Given the description of an element on the screen output the (x, y) to click on. 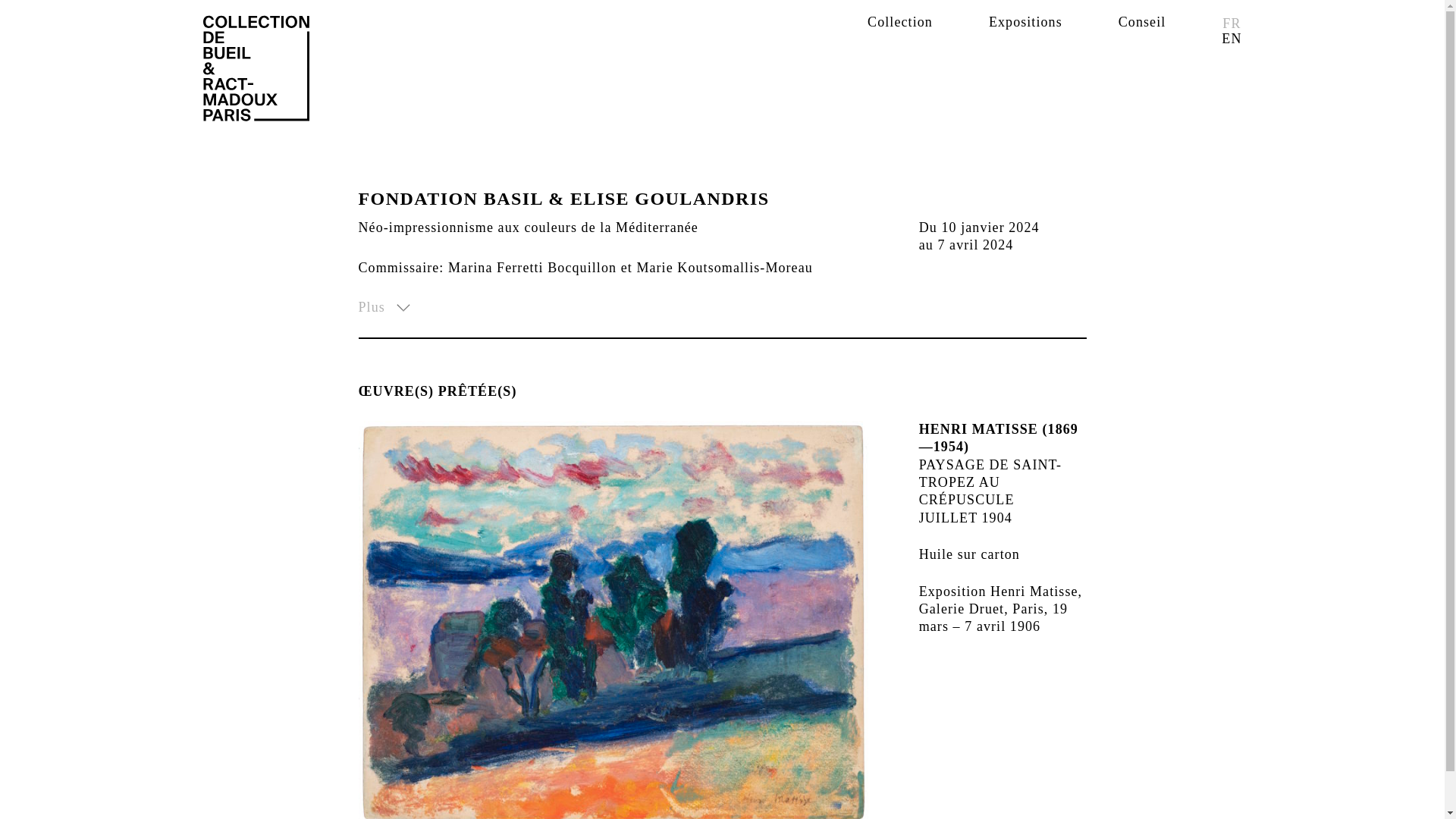
EN (1231, 38)
Expositions (1025, 21)
FR (1231, 23)
Collection (900, 21)
